Given the description of an element on the screen output the (x, y) to click on. 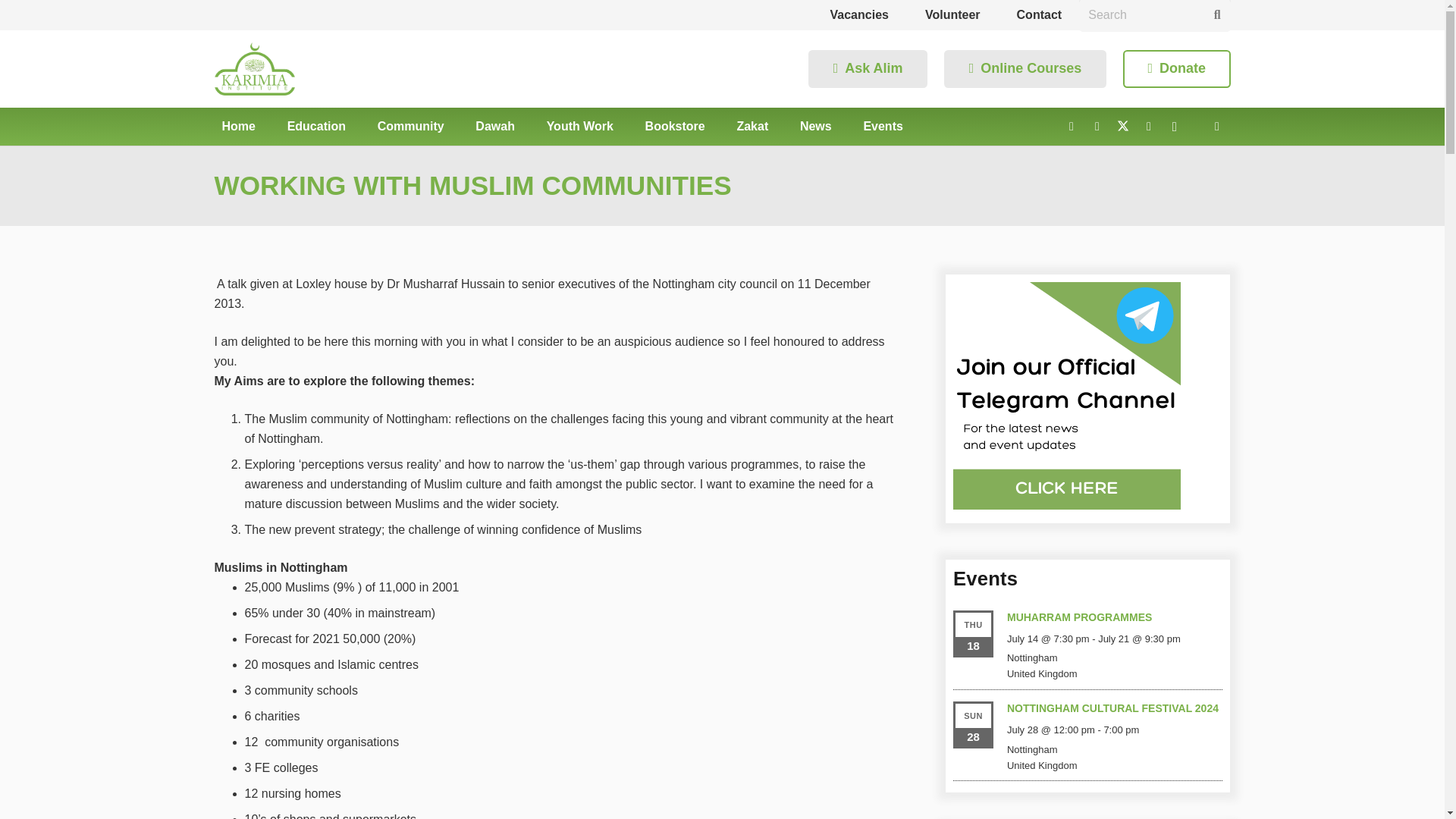
Online Courses (1024, 68)
Community (410, 126)
Volunteer (951, 14)
Twitter (1122, 126)
Ask Alim (867, 68)
Youth Work (579, 126)
Education (316, 126)
Home (238, 126)
News (816, 126)
Donate (1176, 68)
Vacancies (858, 14)
YouTube (1148, 126)
Instagram (1173, 126)
Dawah (494, 126)
Zakat (752, 126)
